Given the description of an element on the screen output the (x, y) to click on. 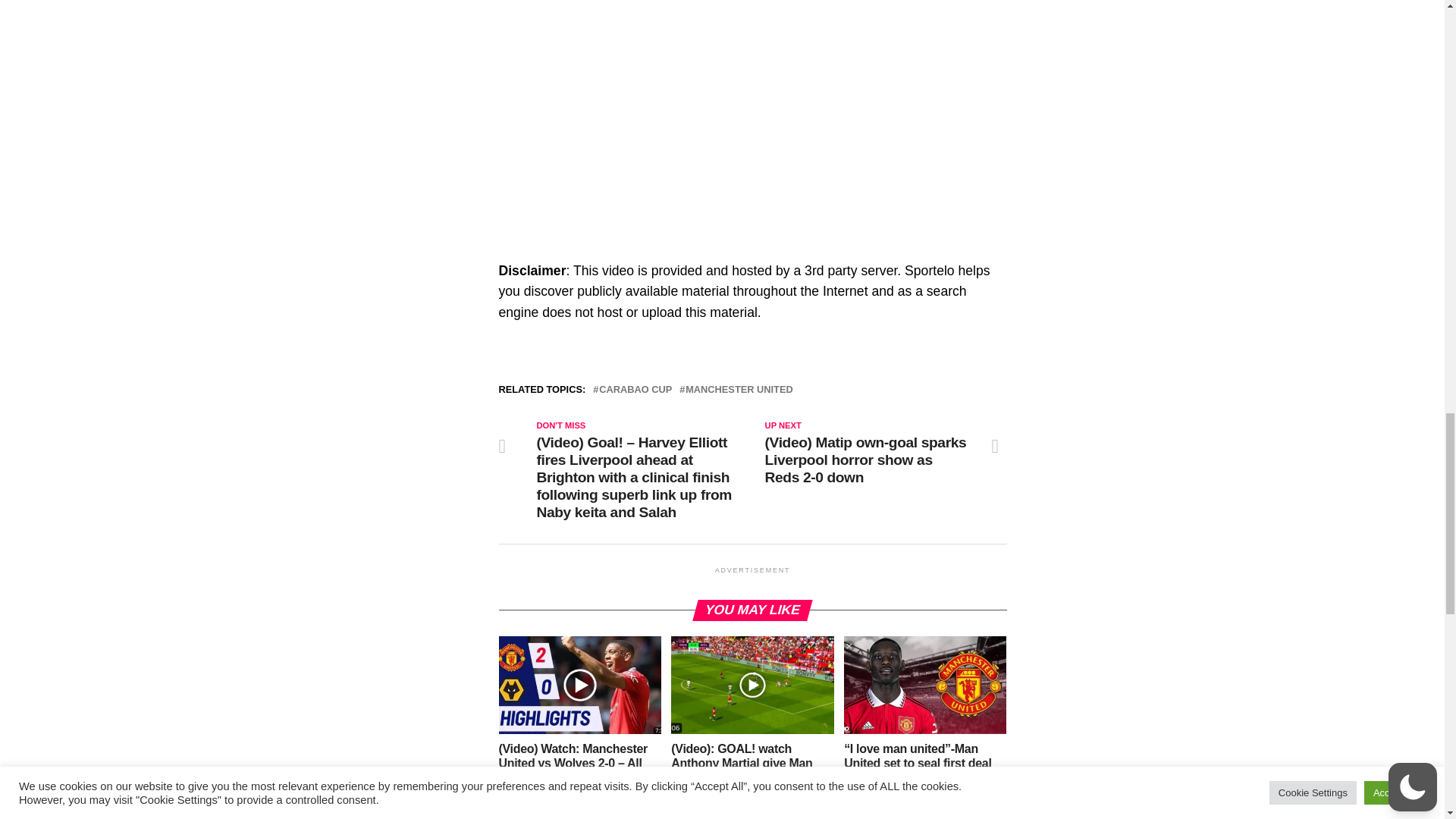
CARABAO CUP (634, 389)
MANCHESTER UNITED (738, 389)
